Given the description of an element on the screen output the (x, y) to click on. 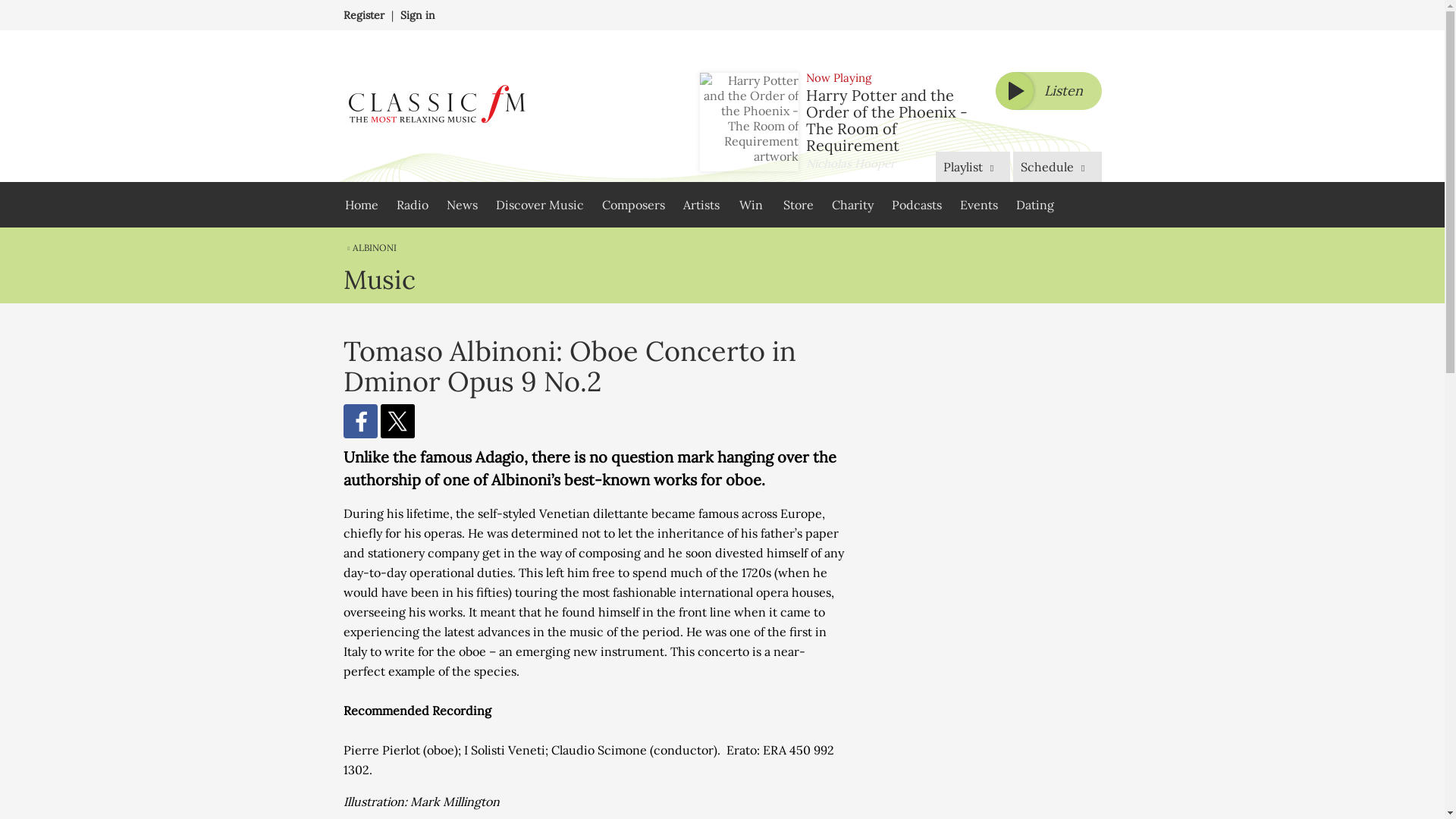
Podcasts (916, 204)
Classic FM (435, 106)
News (461, 204)
Composers (633, 204)
Playlist (973, 166)
Sign in (417, 15)
ALBINONI (369, 247)
Register (363, 15)
Home (360, 204)
Dating (1034, 204)
Listen (1047, 90)
Radio (411, 204)
Schedule (1056, 166)
Artists (700, 204)
Store (797, 204)
